Given the description of an element on the screen output the (x, y) to click on. 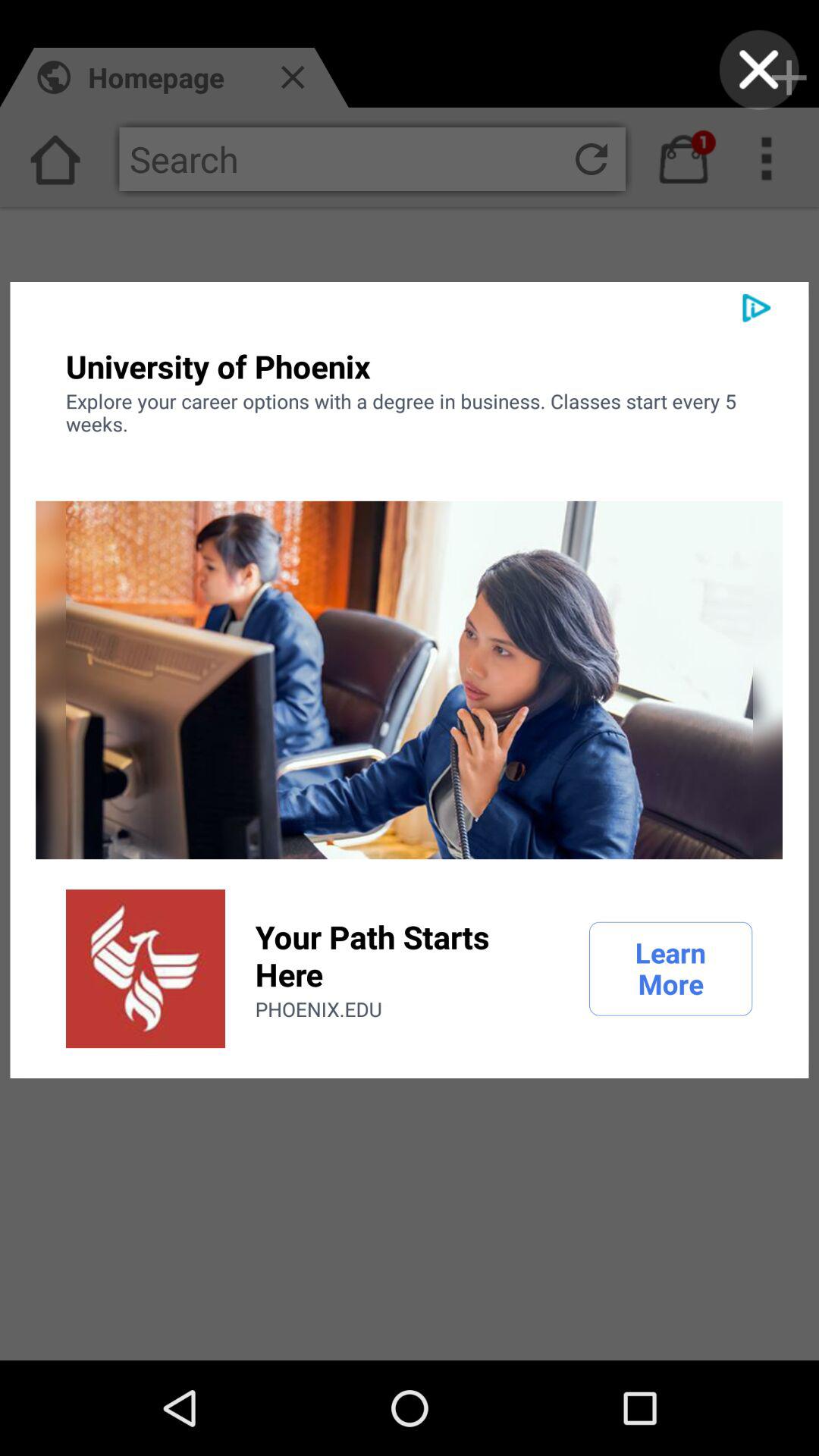
close advertisement (759, 69)
